Given the description of an element on the screen output the (x, y) to click on. 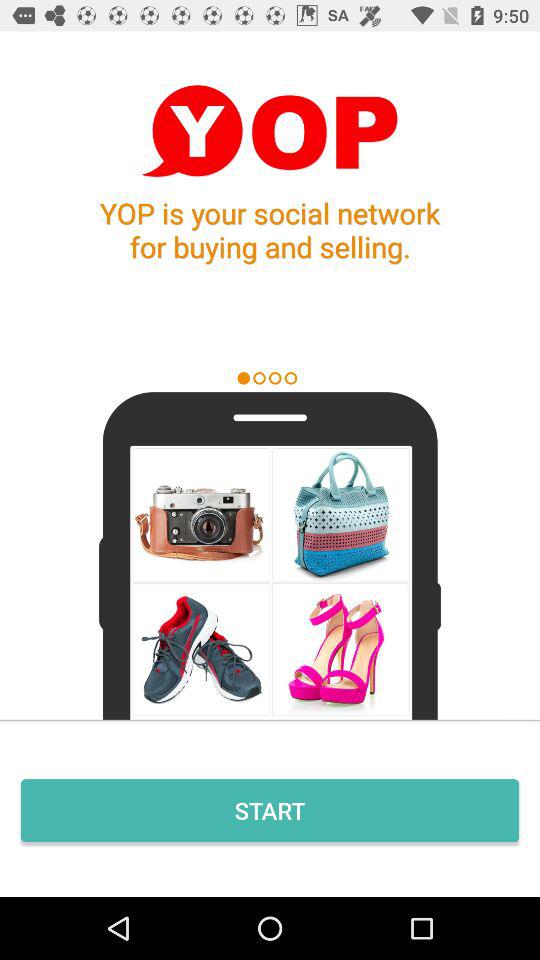
choose start icon (270, 810)
